Given the description of an element on the screen output the (x, y) to click on. 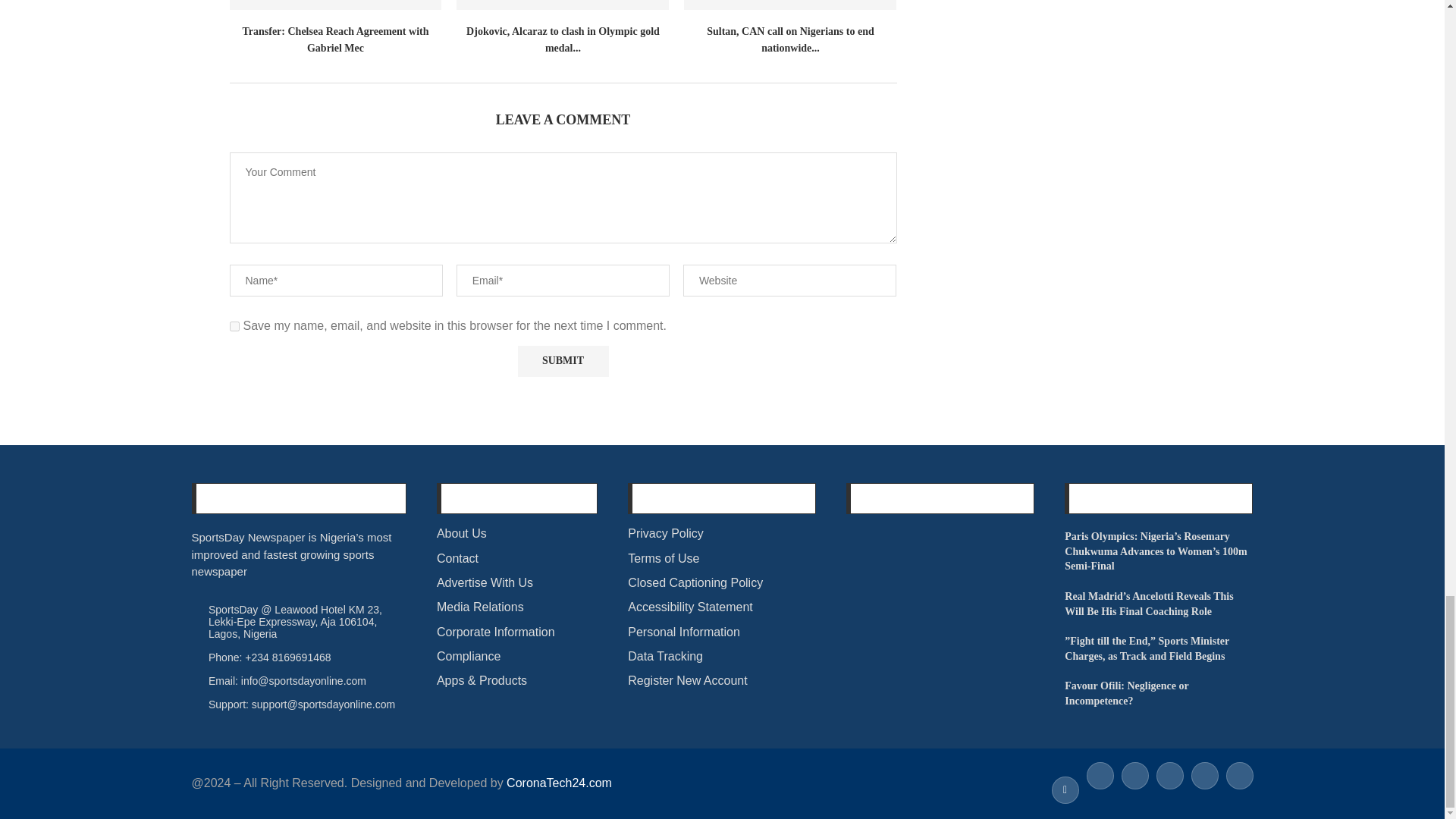
Transfer: Chelsea Reach Agreement with Gabriel Mec (334, 5)
Sultan, CAN call on Nigerians to end nationwide protest (790, 5)
Djokovic, Alcaraz to clash in Olympic gold medal showdown (562, 5)
Submit (562, 360)
yes (233, 326)
